Given the description of an element on the screen output the (x, y) to click on. 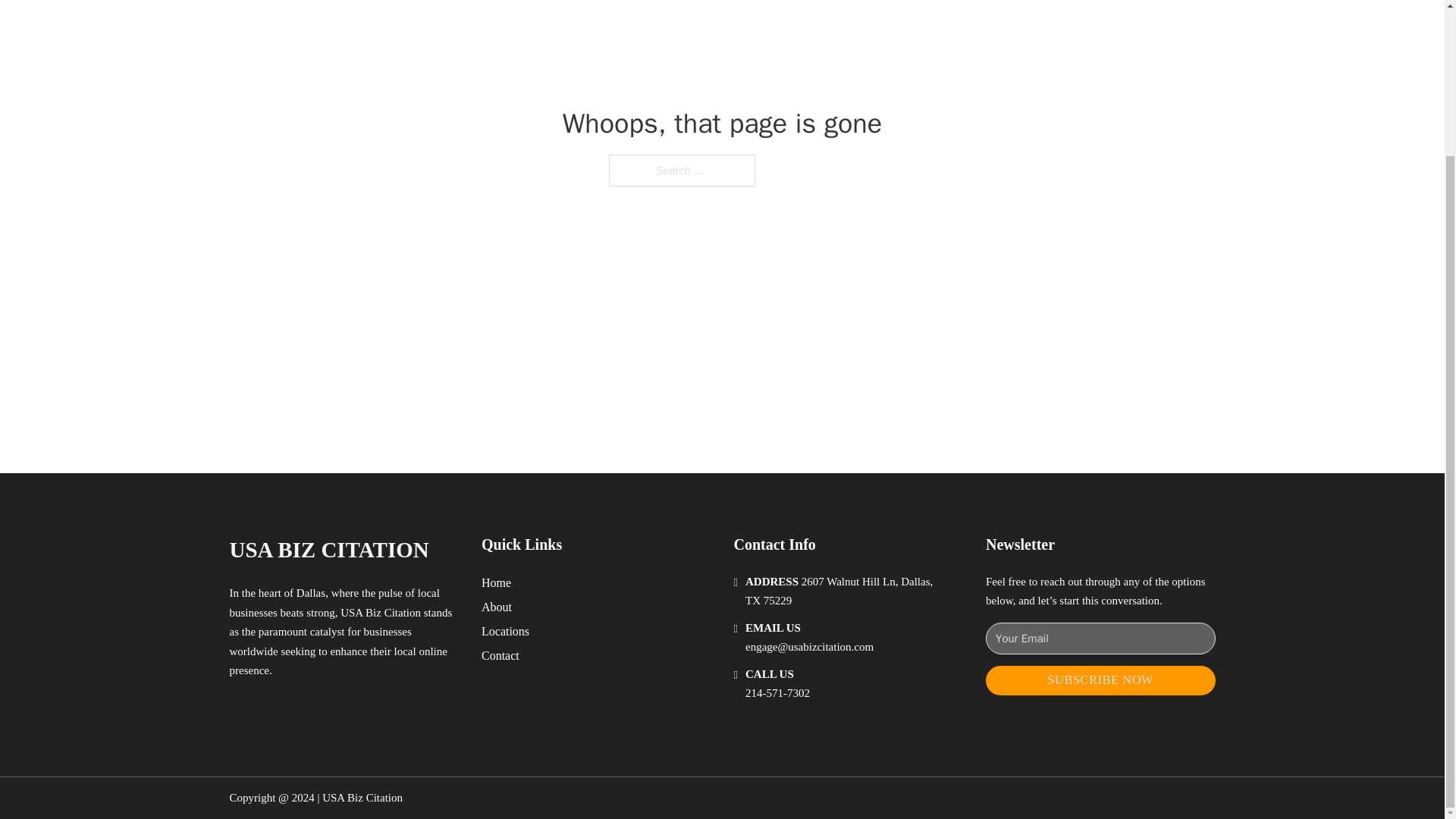
About (496, 607)
Home (496, 582)
214-571-7302 (777, 693)
USA BIZ CITATION (328, 549)
Contact (500, 655)
Locations (505, 630)
SUBSCRIBE NOW (1100, 680)
